Given the description of an element on the screen output the (x, y) to click on. 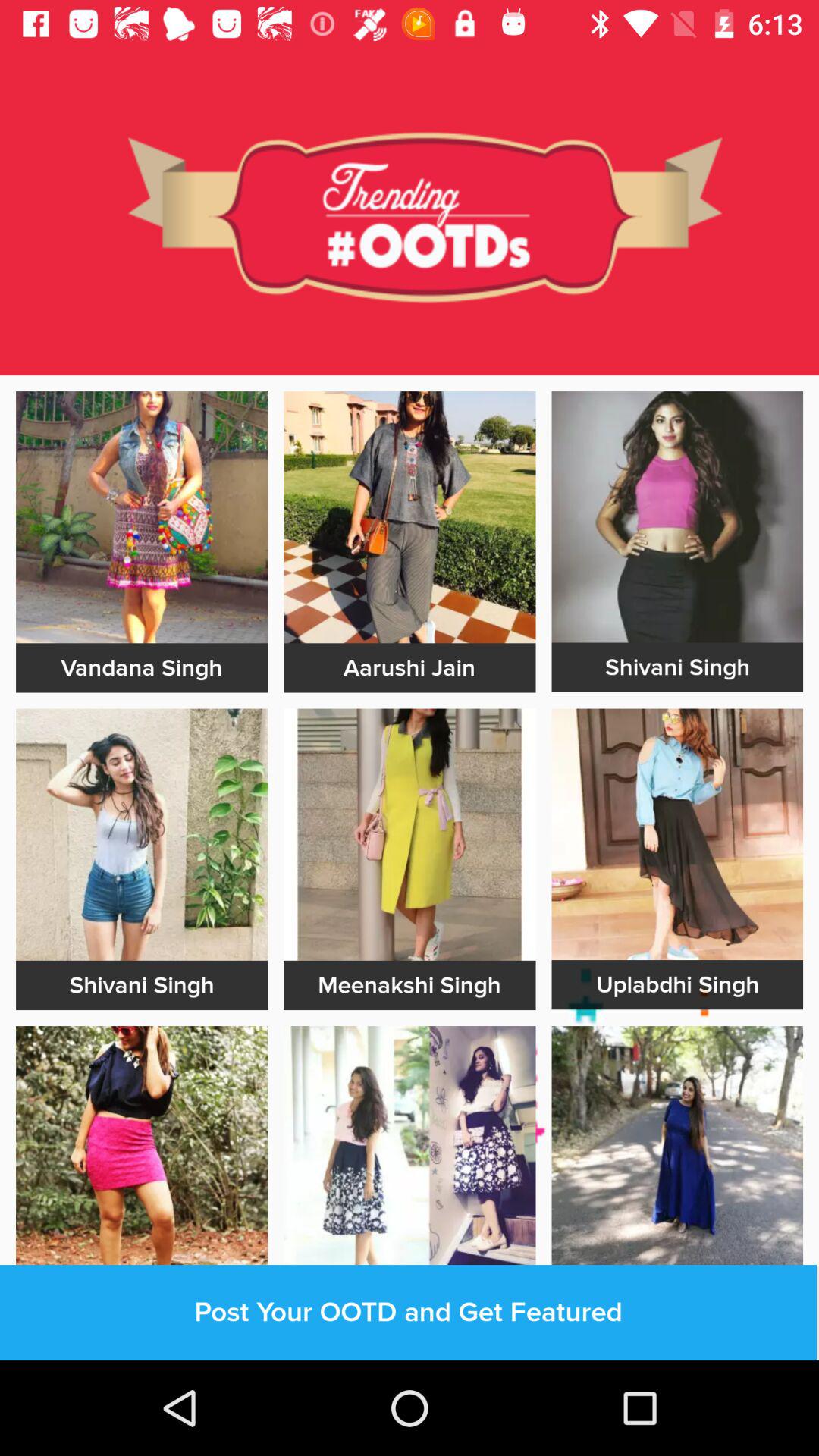
outline page (141, 1351)
